Given the description of an element on the screen output the (x, y) to click on. 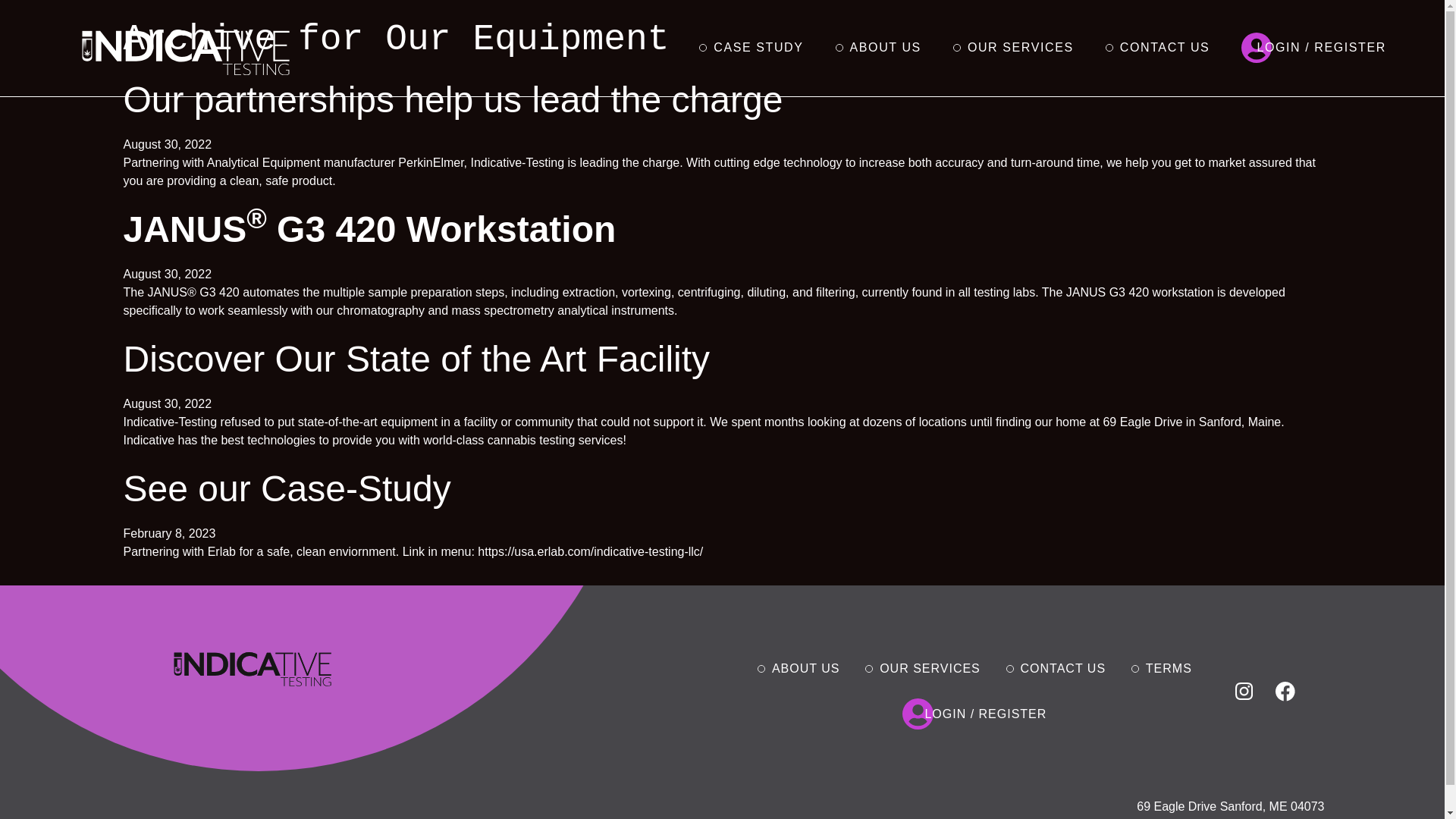
Our partnerships help us lead the charge (452, 99)
See our Case-Study (285, 488)
OUR SERVICES (934, 668)
CONTACT US (1067, 668)
TERMS (1173, 668)
Discover Our State of the Art Facility (416, 359)
69 Eagle Drive Sanford, ME 04073 (1230, 806)
CASE STUDY (758, 47)
ABOUT US (809, 668)
CONTACT US (1164, 47)
OUR SERVICES (1020, 47)
ABOUT US (885, 47)
